Given the description of an element on the screen output the (x, y) to click on. 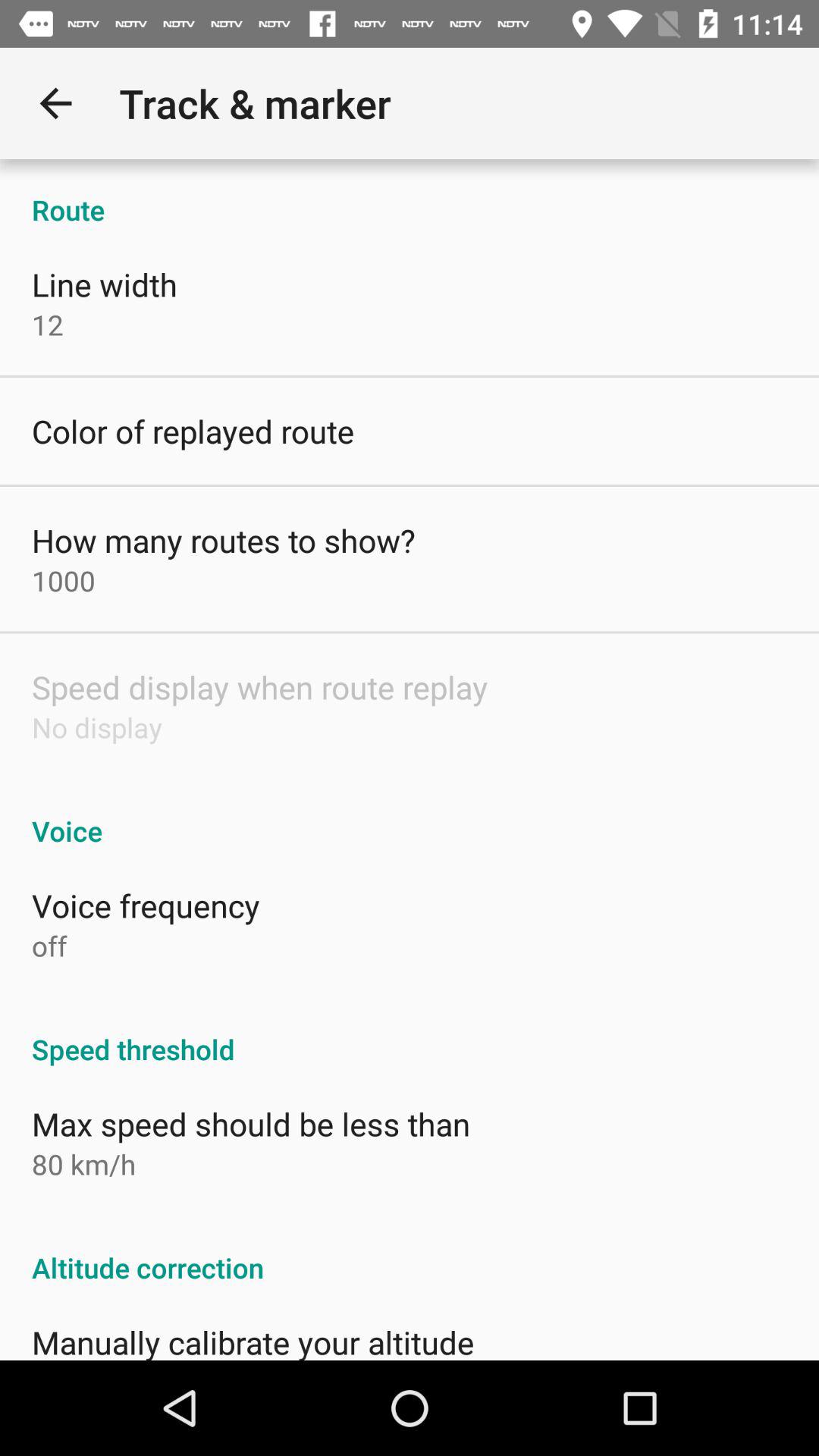
click the icon below the speed threshold icon (250, 1123)
